Given the description of an element on the screen output the (x, y) to click on. 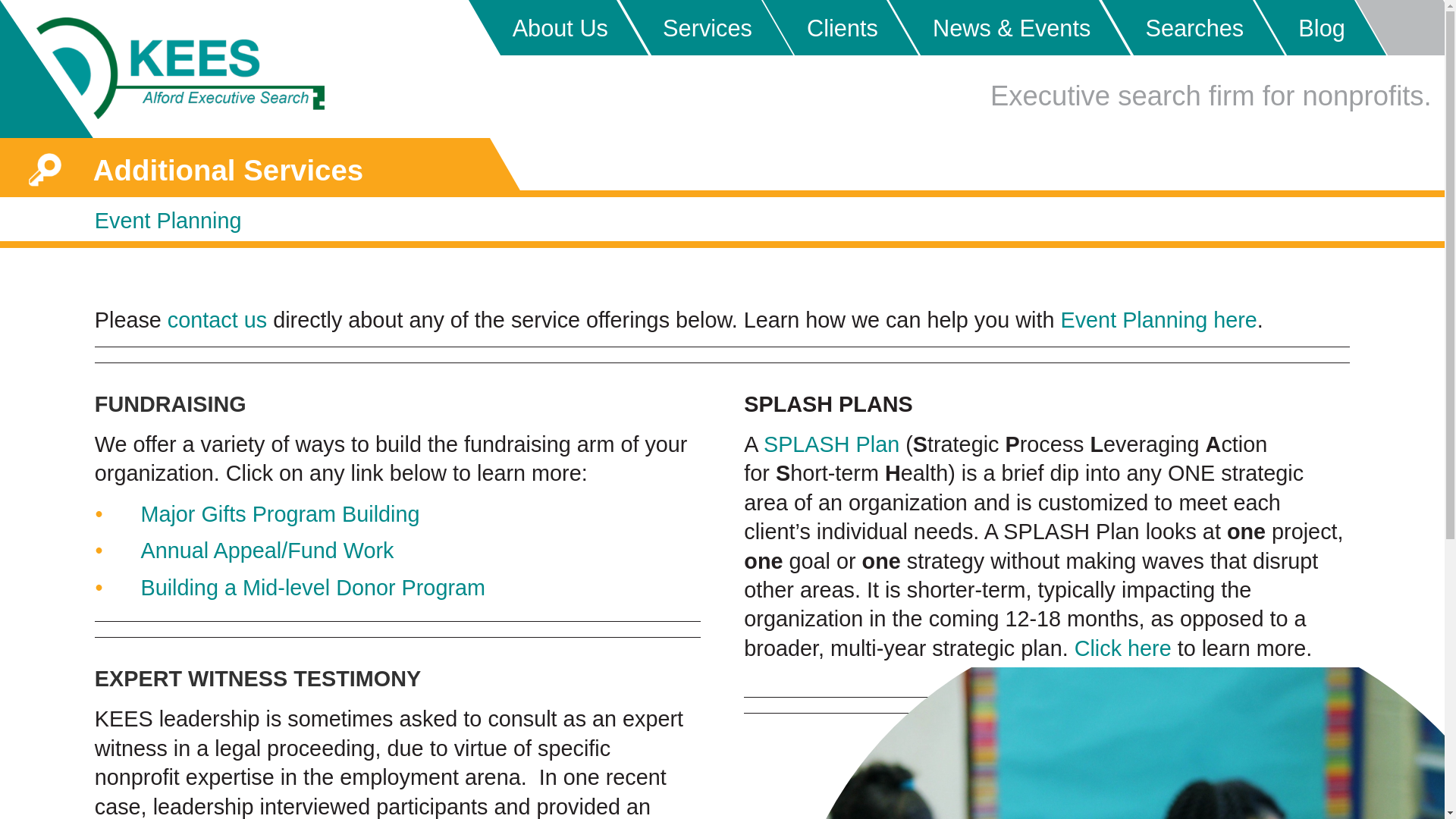
Event Planning (167, 220)
Searches (1177, 27)
Services (689, 27)
Placeholder (1398, 27)
About Us (541, 27)
Clients (824, 27)
Blog (1304, 27)
